Given the description of an element on the screen output the (x, y) to click on. 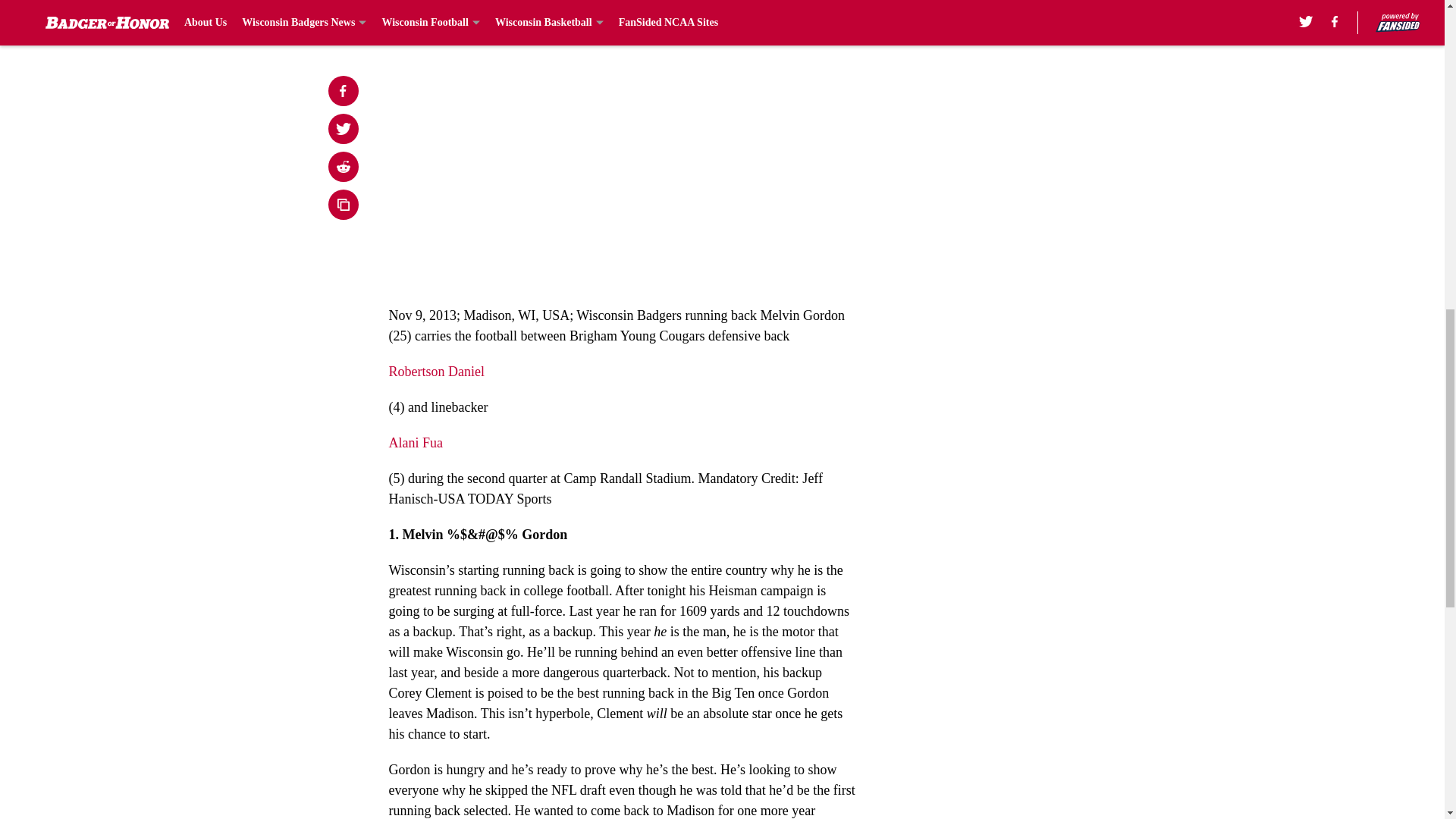
Next (813, 5)
Alani Fua (415, 442)
Robertson Daniel (435, 371)
Prev (433, 5)
